Given the description of an element on the screen output the (x, y) to click on. 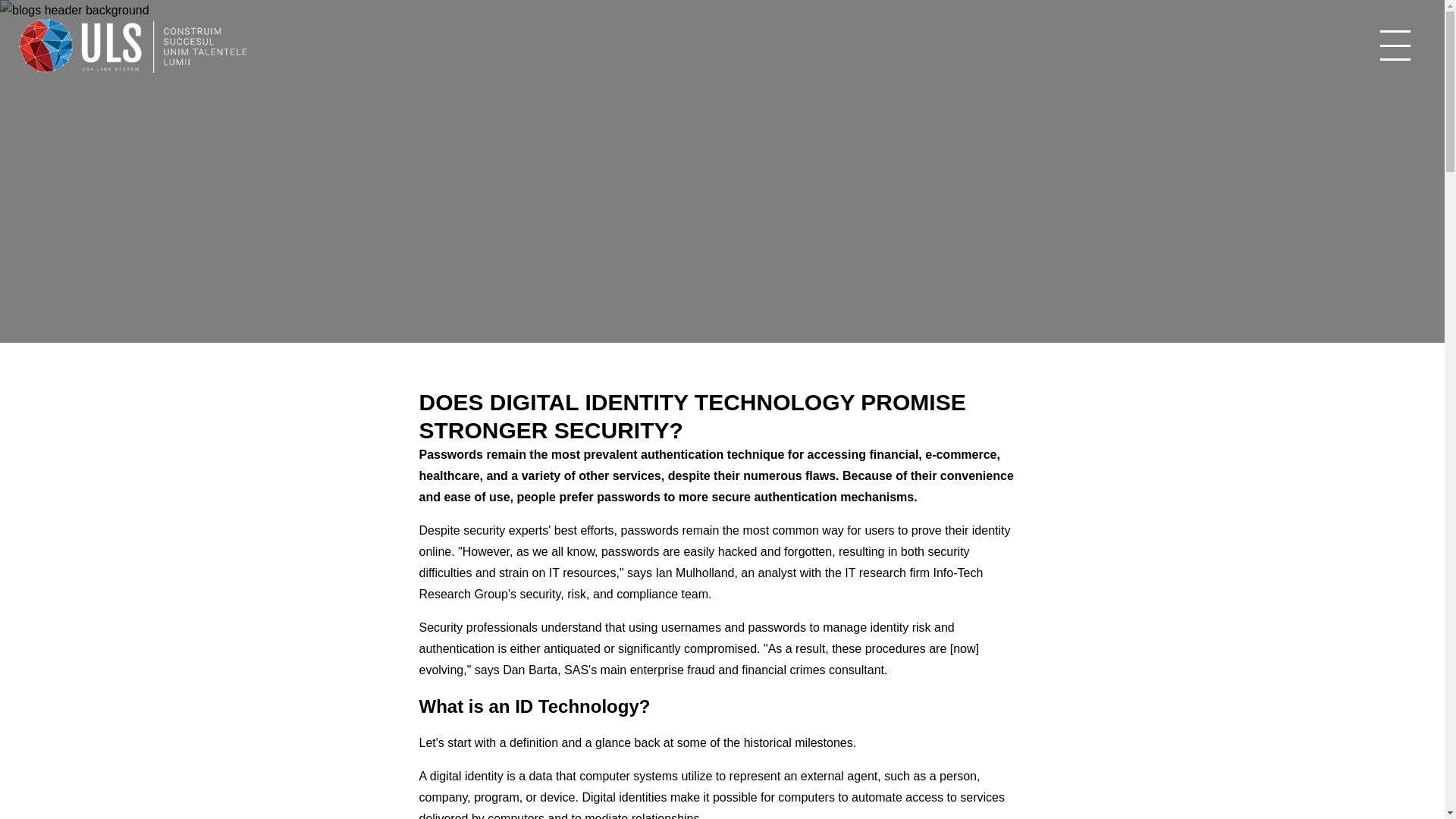
a definition (528, 742)
says Dan Barta (515, 669)
a definition (528, 742)
says Dan Barta (515, 669)
